Given the description of an element on the screen output the (x, y) to click on. 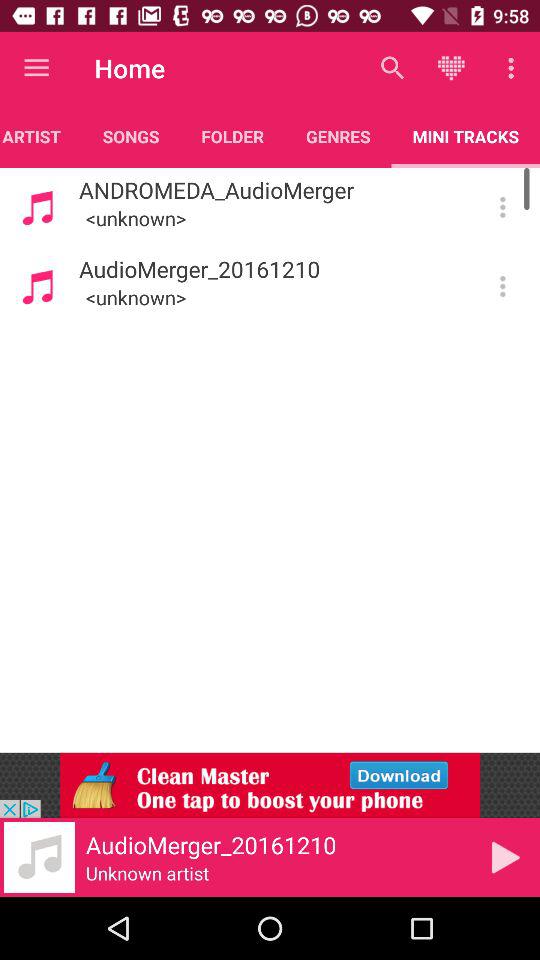
song options (502, 286)
